Given the description of an element on the screen output the (x, y) to click on. 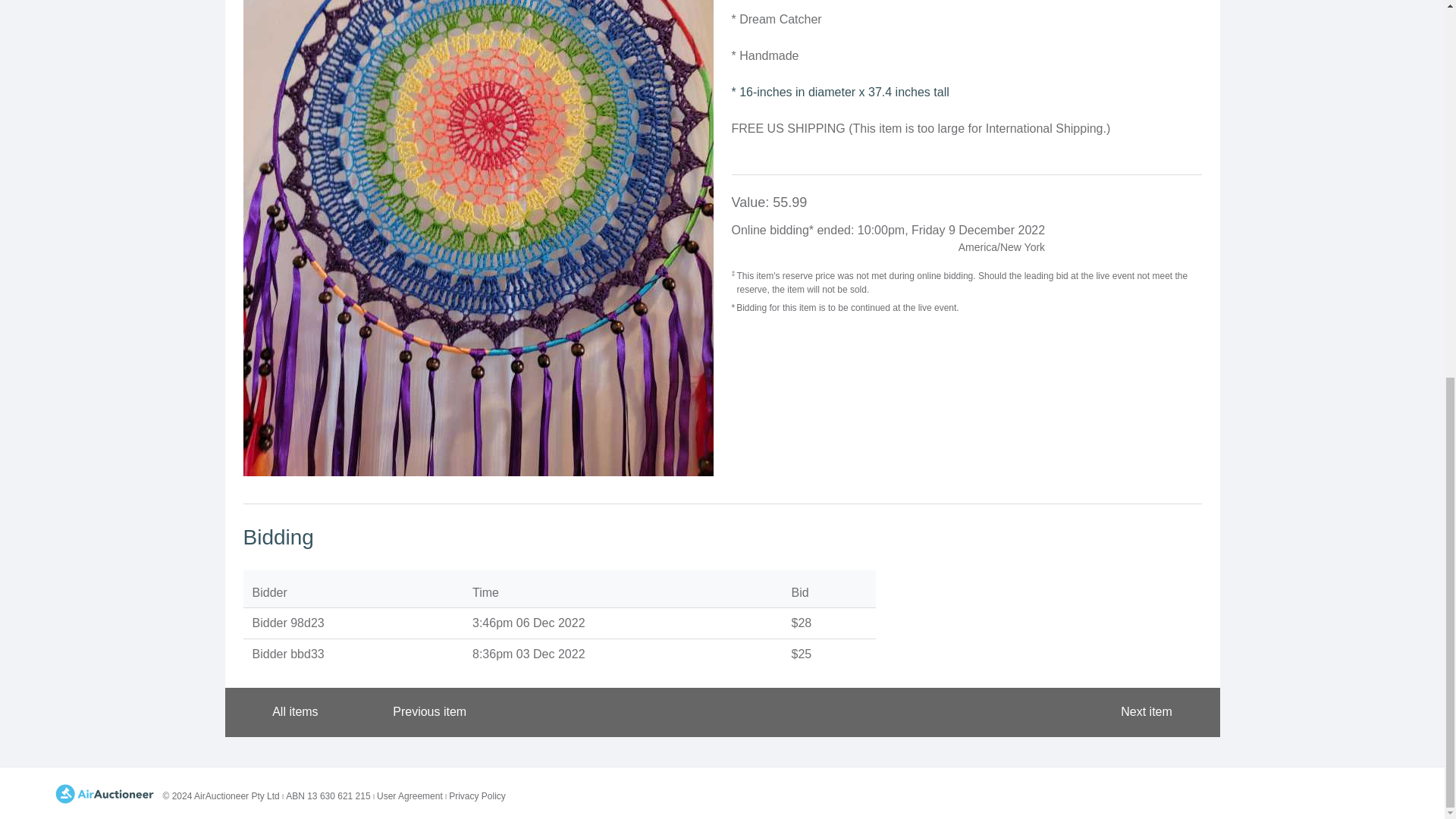
Previous item (420, 712)
Next item (1156, 712)
Privacy Policy (475, 796)
ABN 13 630 621 215 (326, 796)
User Agreement (407, 796)
All items (284, 712)
